Given the description of an element on the screen output the (x, y) to click on. 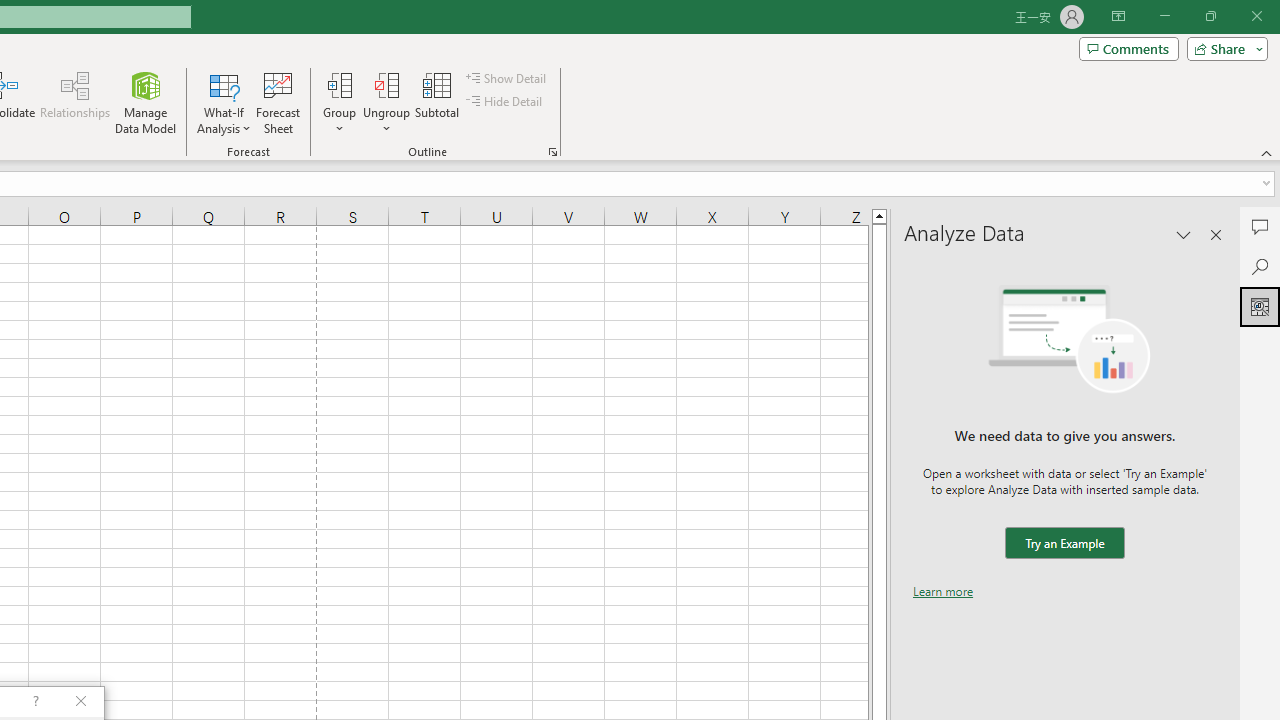
Hide Detail (505, 101)
Relationships (75, 102)
Search (1260, 266)
Subtotal (437, 102)
Forecast Sheet (278, 102)
What-If Analysis (223, 102)
